Given the description of an element on the screen output the (x, y) to click on. 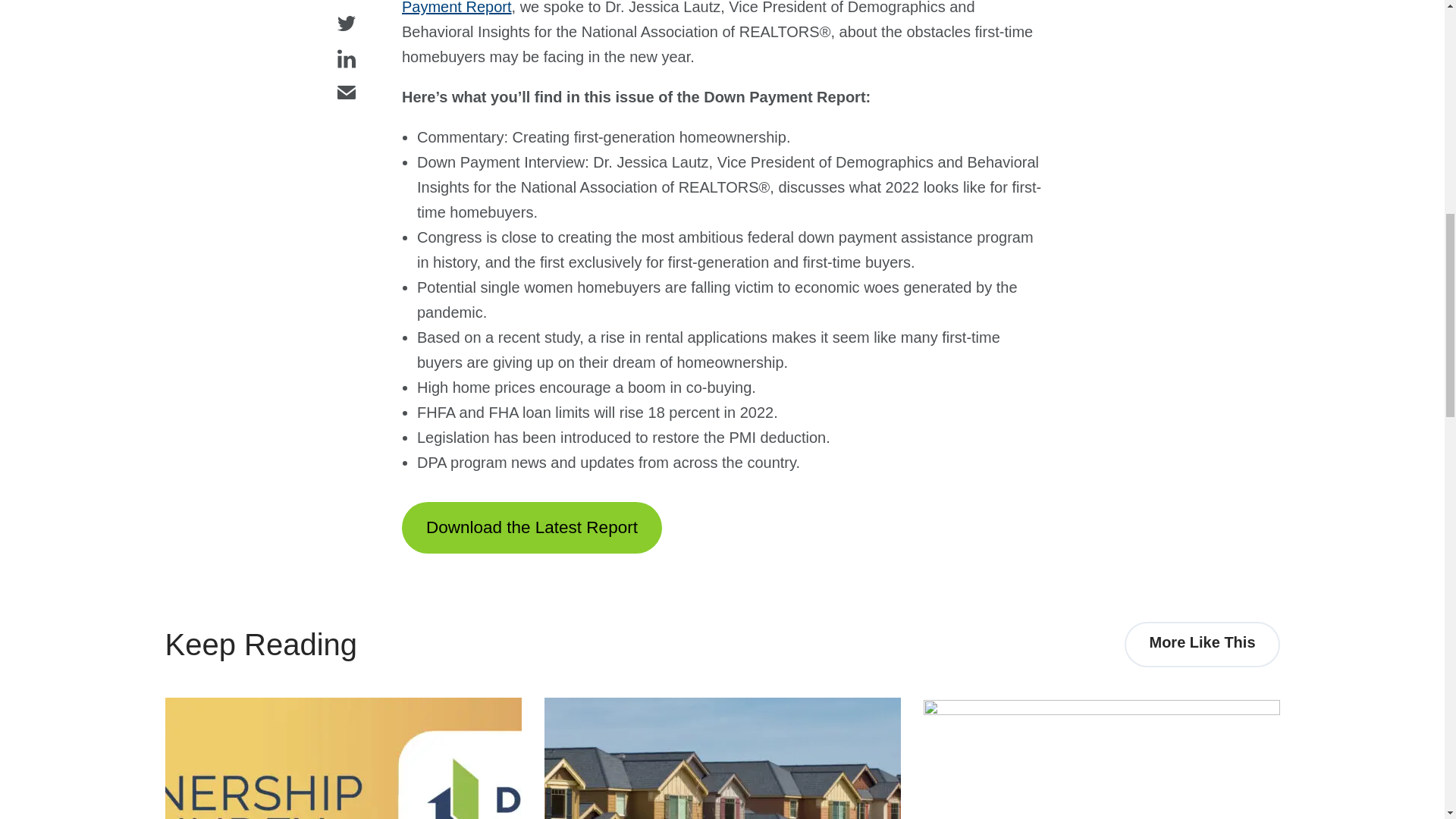
most recent Down Payment Report (691, 7)
LinkedIn (346, 59)
Twitter (346, 24)
Email (346, 93)
More Like This (1201, 644)
Download the Latest Report (531, 527)
